Given the description of an element on the screen output the (x, y) to click on. 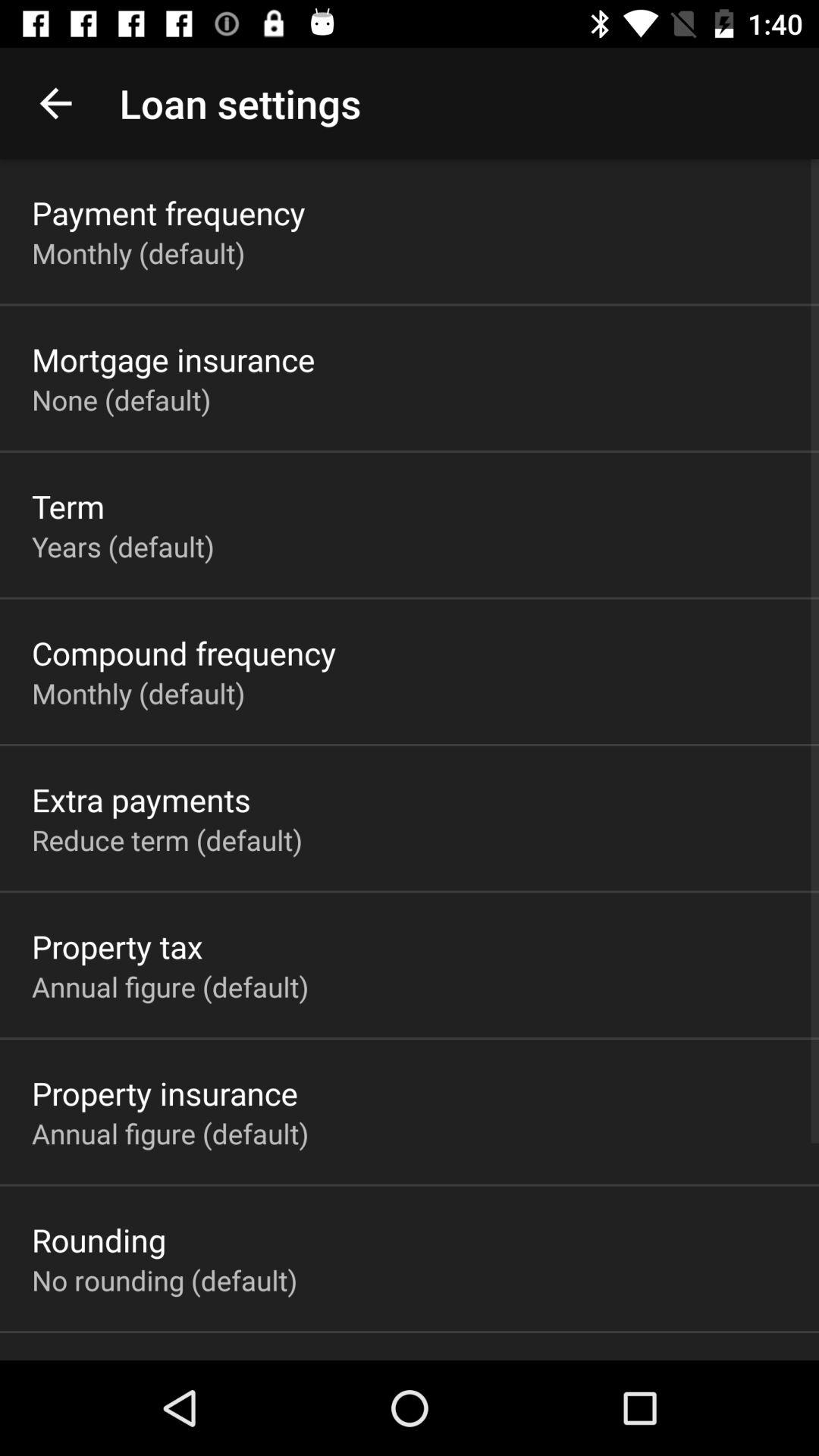
turn on the icon to the left of loan settings icon (55, 103)
